Given the description of an element on the screen output the (x, y) to click on. 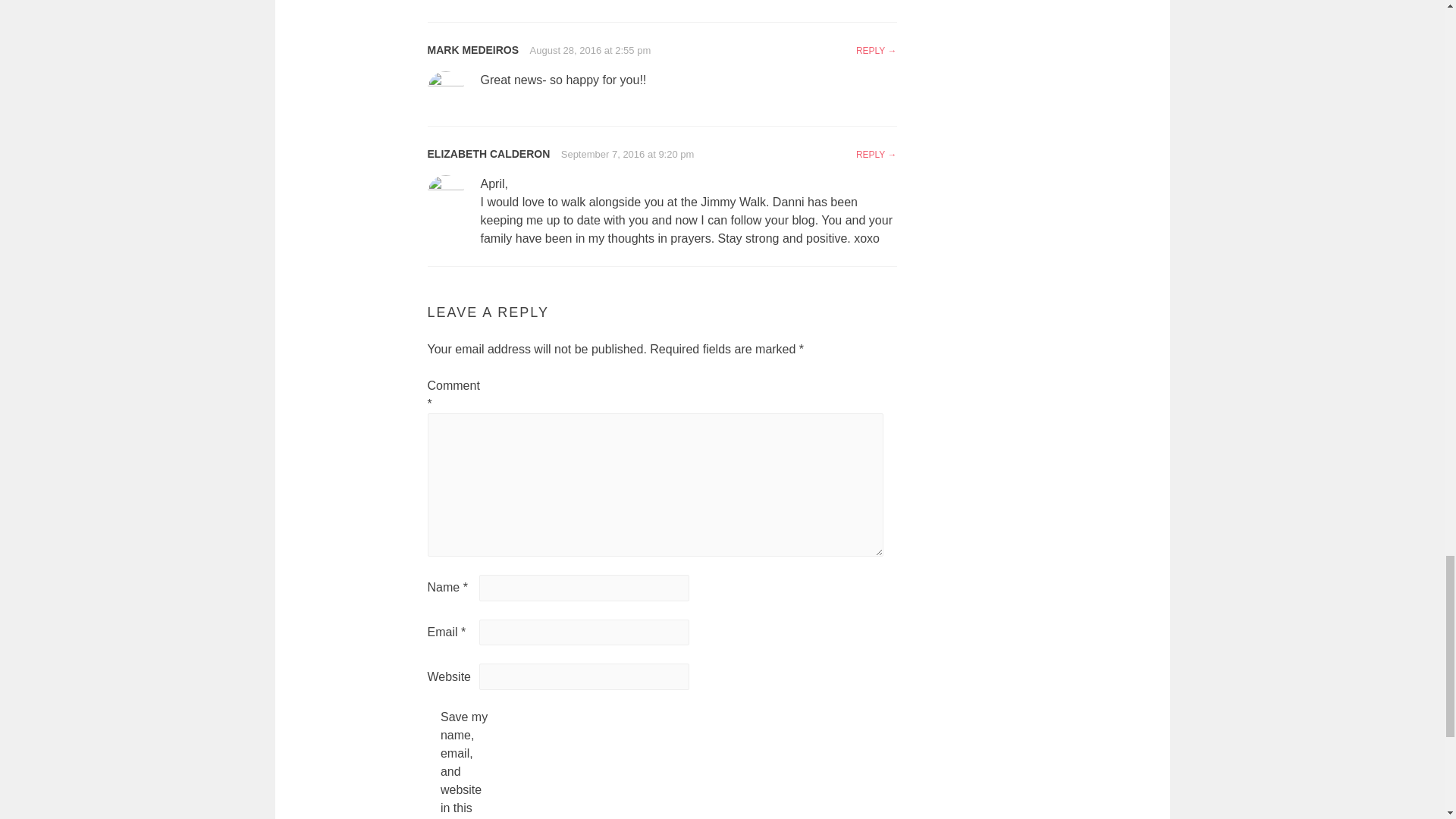
September 7, 2016 at 9:20 pm (627, 153)
August 28, 2016 at 2:55 pm (589, 50)
REPLY (876, 50)
REPLY (876, 154)
